Given the description of an element on the screen output the (x, y) to click on. 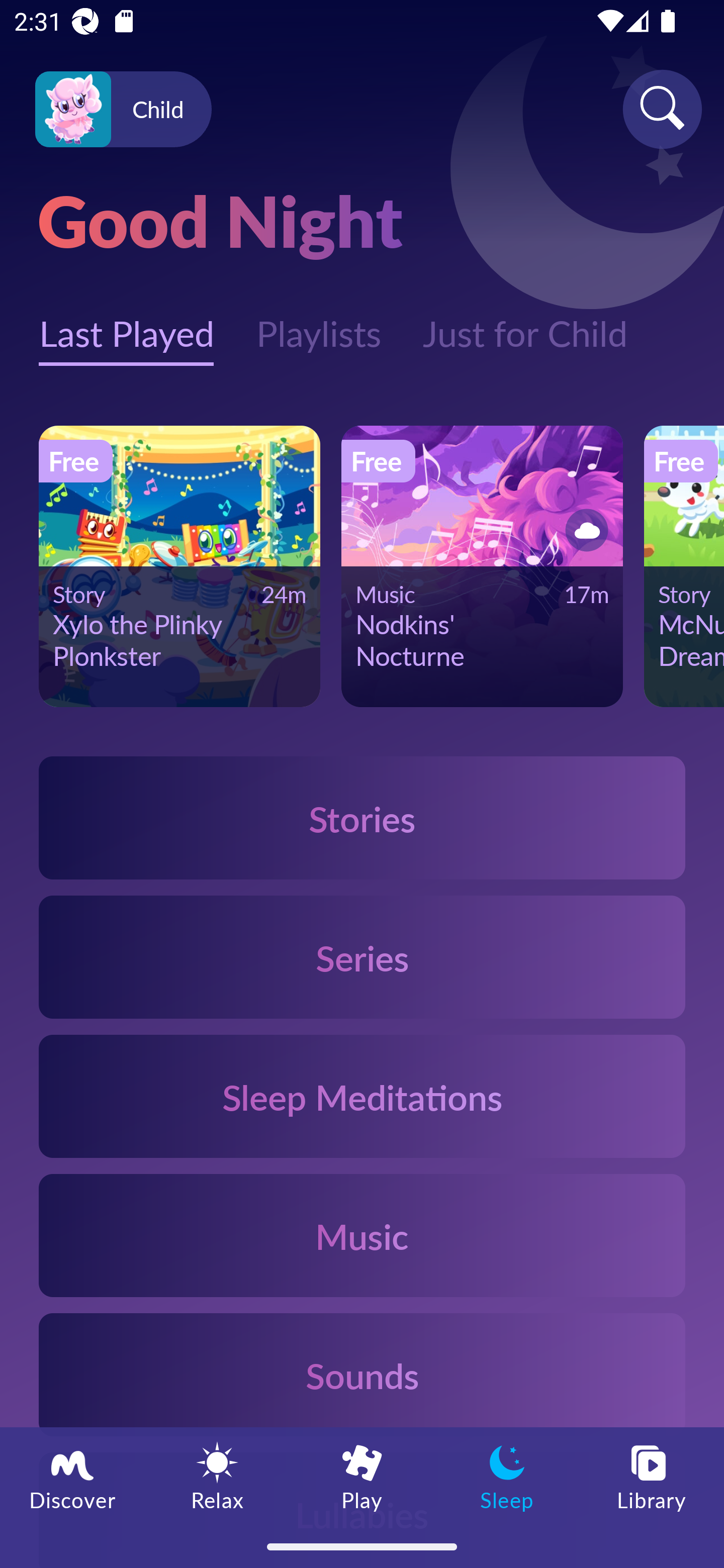
Profile icon Child (123, 109)
Playlists (317, 322)
Just for Child (524, 322)
Button (583, 529)
Stories (361, 817)
Series (361, 957)
Sleep Meditations (361, 1096)
Music (361, 1234)
Sounds (361, 1374)
Discover (72, 1475)
Relax (216, 1475)
Play (361, 1475)
Library (651, 1475)
